Given the description of an element on the screen output the (x, y) to click on. 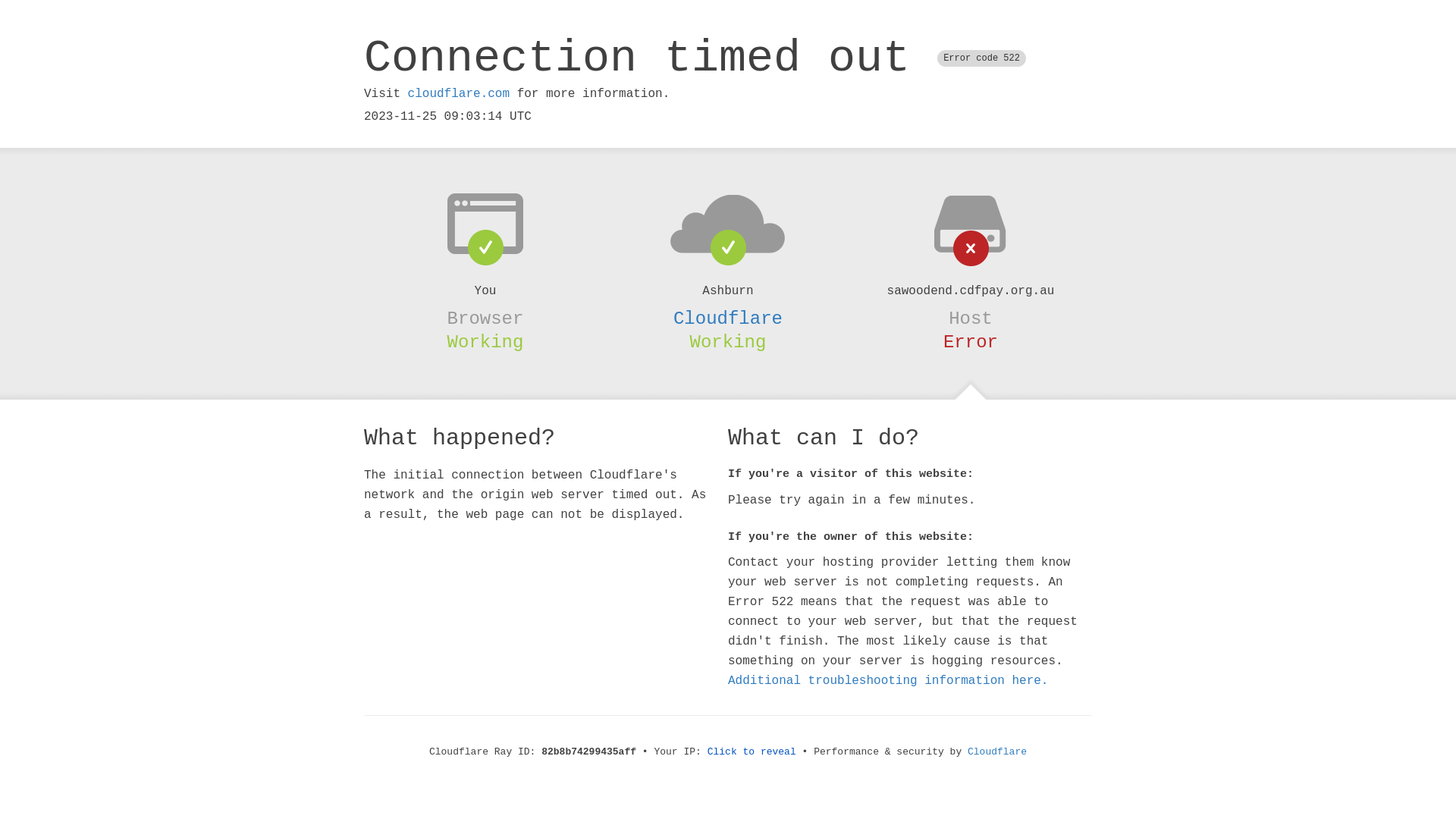
Additional troubleshooting information here. Element type: text (888, 680)
cloudflare.com Element type: text (458, 93)
Cloudflare Element type: text (727, 318)
Cloudflare Element type: text (996, 751)
Click to reveal Element type: text (751, 751)
